Given the description of an element on the screen output the (x, y) to click on. 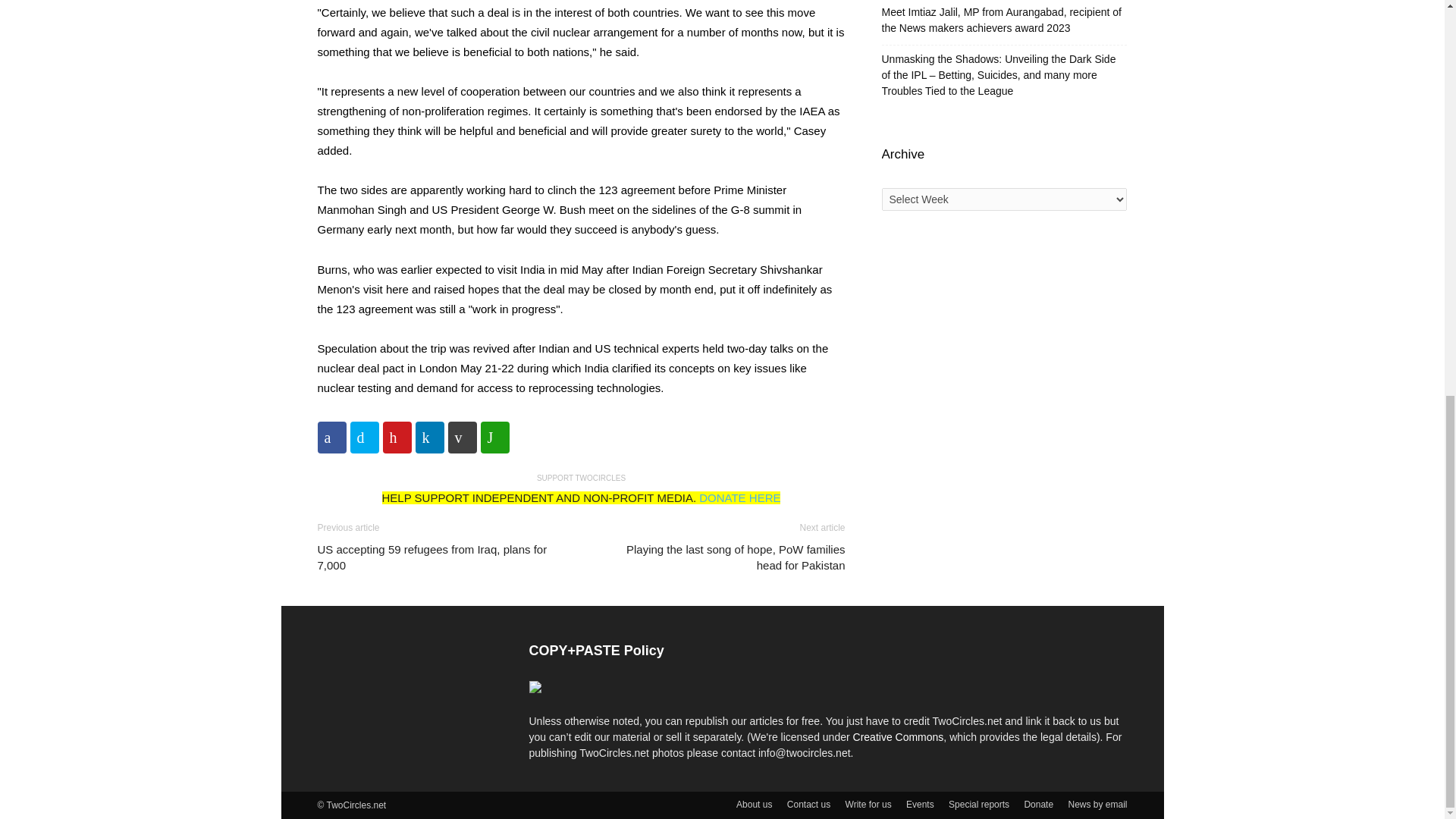
Share on WhatsApp (494, 437)
Share on Facebook (331, 437)
Share on LinkedIn (429, 437)
Share on Twitter (364, 437)
Share on Pinterest (395, 437)
Share on Email (461, 437)
